Given the description of an element on the screen output the (x, y) to click on. 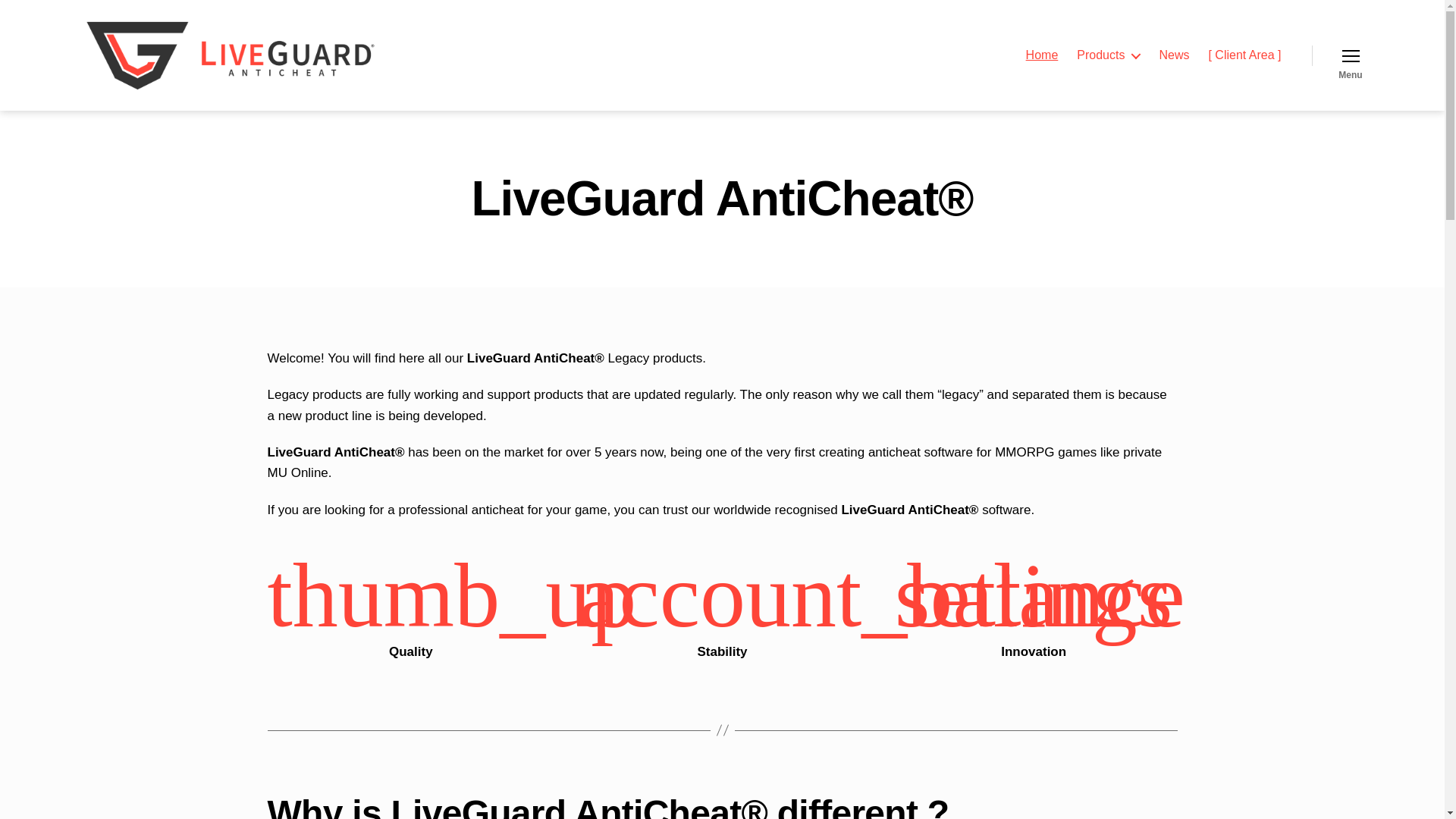
News (1173, 54)
Menu (1350, 55)
Products (1108, 54)
Home (1042, 54)
